Given the description of an element on the screen output the (x, y) to click on. 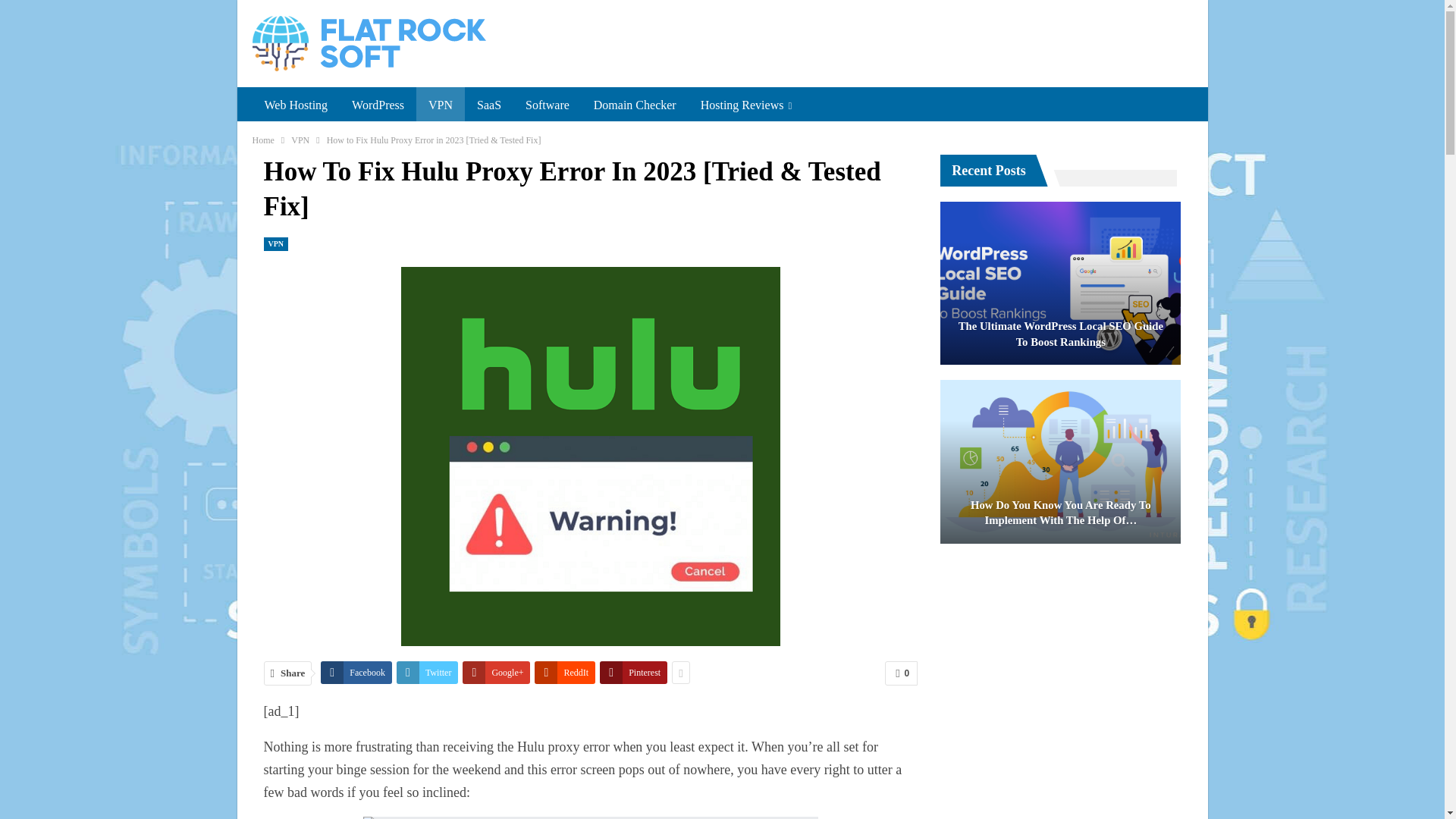
Software (546, 104)
Domain Checker (634, 104)
VPN (275, 243)
ReddIt (564, 671)
VPN (440, 104)
Pinterest (632, 671)
0 (901, 672)
Web Hosting (295, 104)
Facebook (355, 671)
WordPress (377, 104)
Twitter (427, 671)
Hosting Reviews (746, 104)
Home (262, 139)
SaaS (488, 104)
The Ultimate WordPress Local SEO Guide to Boost Rankings (1060, 283)
